Given the description of an element on the screen output the (x, y) to click on. 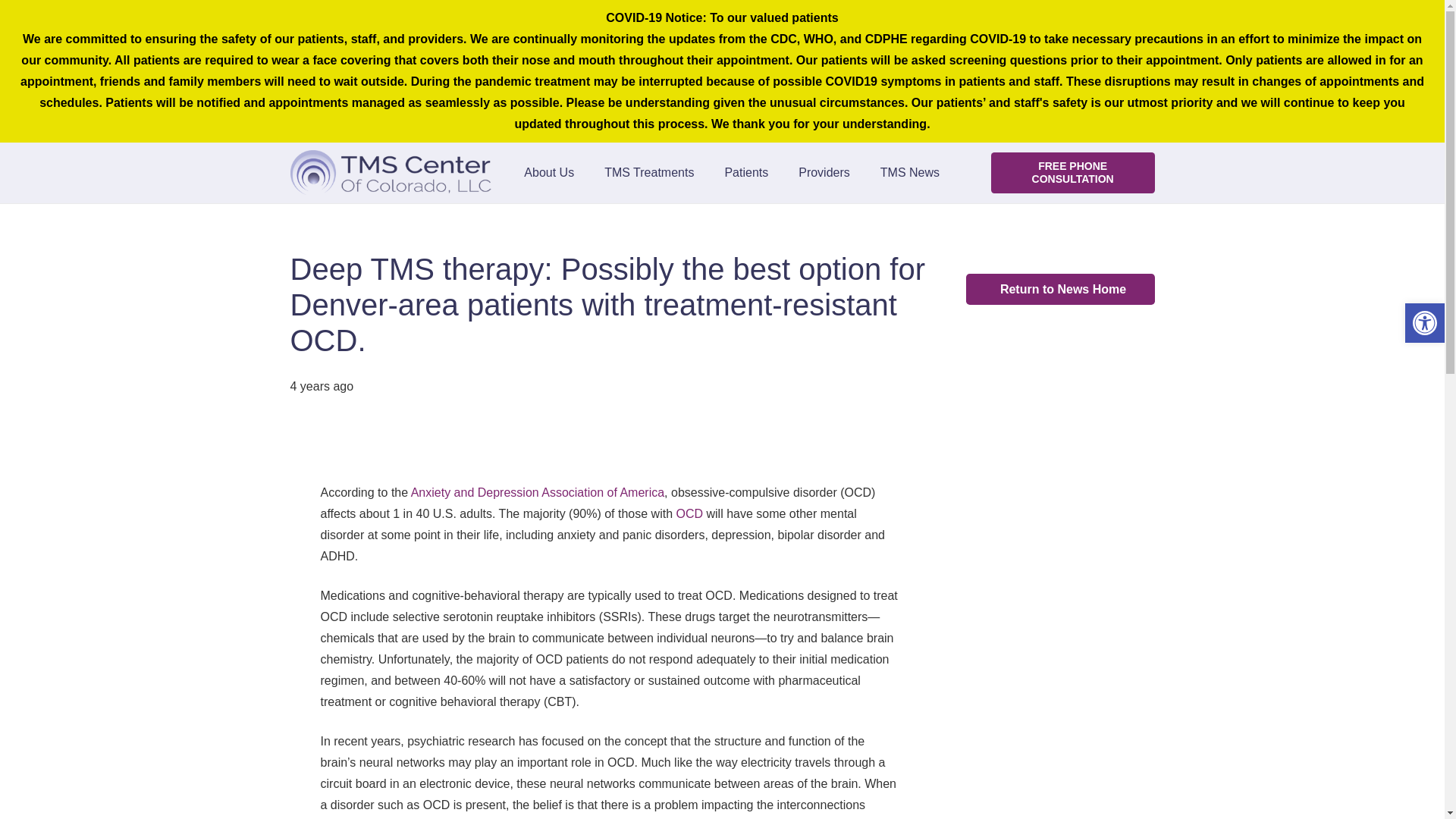
TMS Treatments (649, 172)
Patients (746, 172)
OCD (689, 513)
About Us (548, 172)
TMS News (909, 172)
Providers (823, 172)
Accessibility Tools (1424, 322)
Anxiety and Depression Association of America (536, 492)
FREE PHONE CONSULTATION (1072, 172)
